Given the description of an element on the screen output the (x, y) to click on. 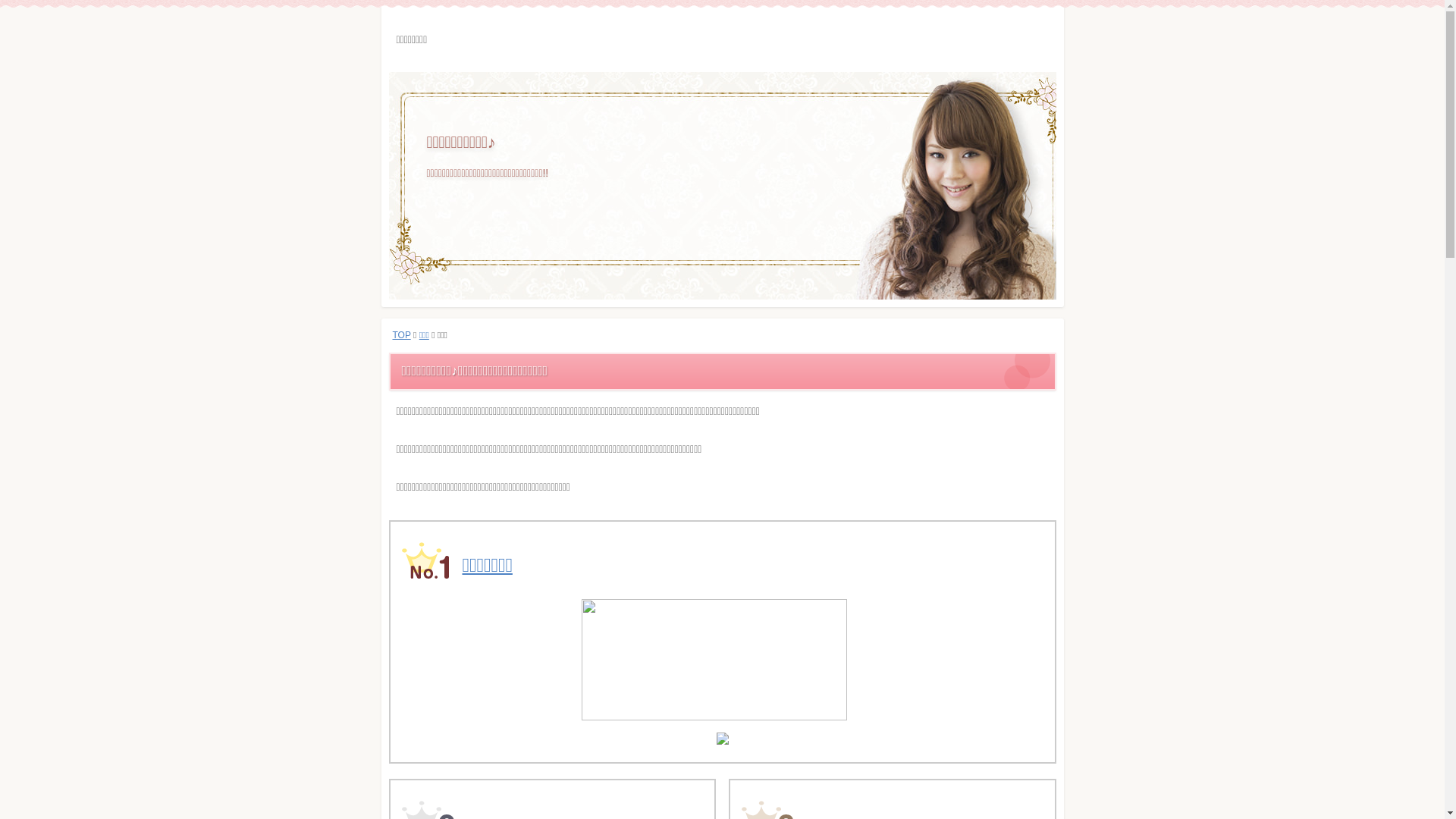
TOP Element type: text (401, 334)
